Given the description of an element on the screen output the (x, y) to click on. 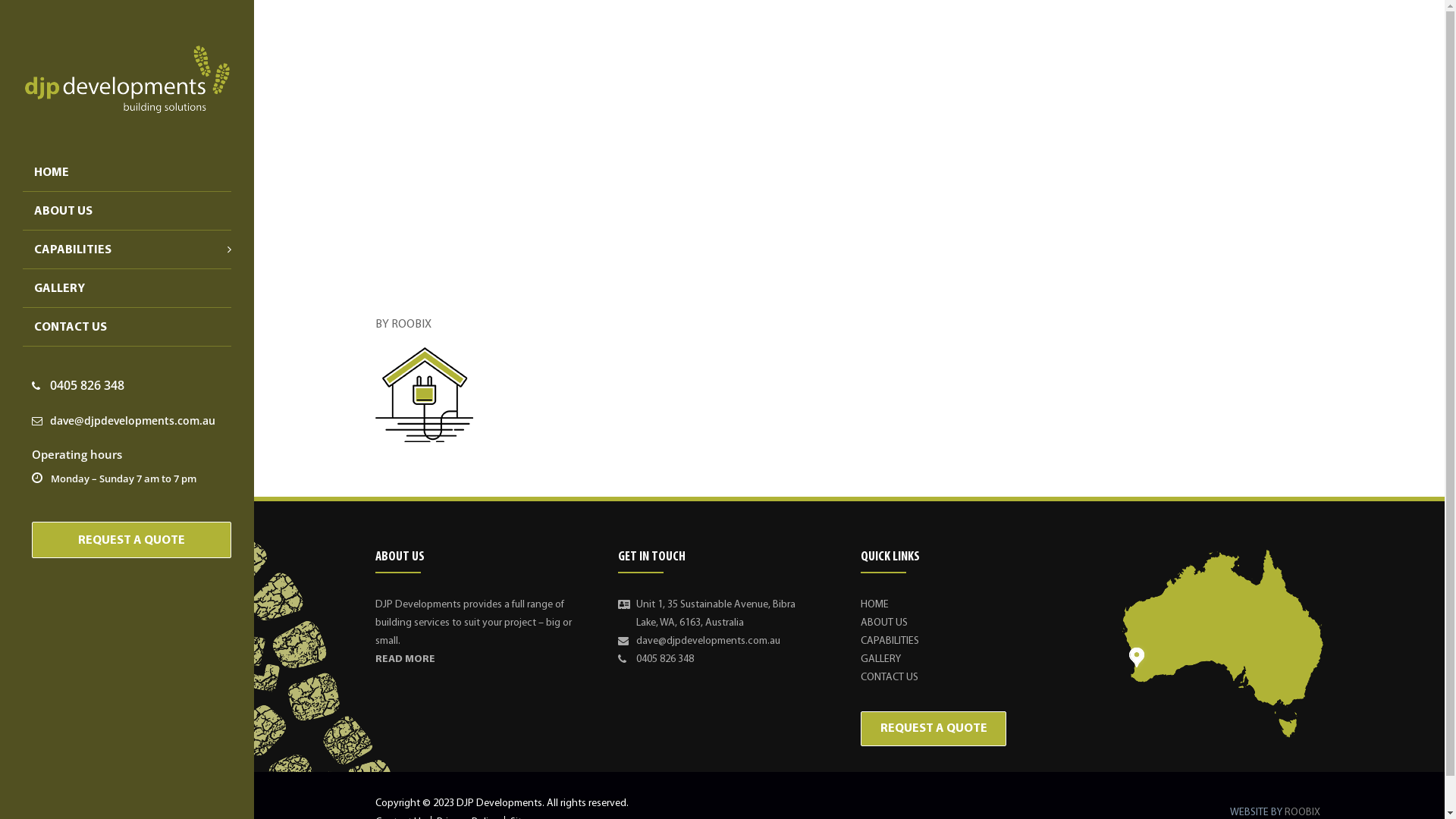
HOME Element type: text (126, 172)
CAPABILITIES Element type: text (889, 640)
CONTACT US Element type: text (889, 677)
CAPABILITIES Element type: text (463, 191)
CONTACT US Element type: text (126, 326)
REQUEST A QUOTE Element type: text (131, 539)
0405 826 348 Element type: text (664, 659)
dave@djpdevelopments.com.au Element type: text (708, 640)
HOME Element type: text (874, 604)
CAPABILITIES Element type: text (120, 249)
0405 826 348 Element type: text (77, 384)
REQUEST A QUOTE Element type: text (933, 728)
dave@djpdevelopments.com.au Element type: text (123, 420)
READ MORE Element type: text (405, 659)
GALLERY Element type: text (880, 659)
COMMERCIAL BUILDING SERVICES Element type: text (605, 191)
HOME Element type: text (393, 191)
ABOUT US Element type: text (126, 210)
GALLERY Element type: text (126, 288)
ABOUT US Element type: text (883, 622)
DJP Developments Element type: hover (126, 78)
